Given the description of an element on the screen output the (x, y) to click on. 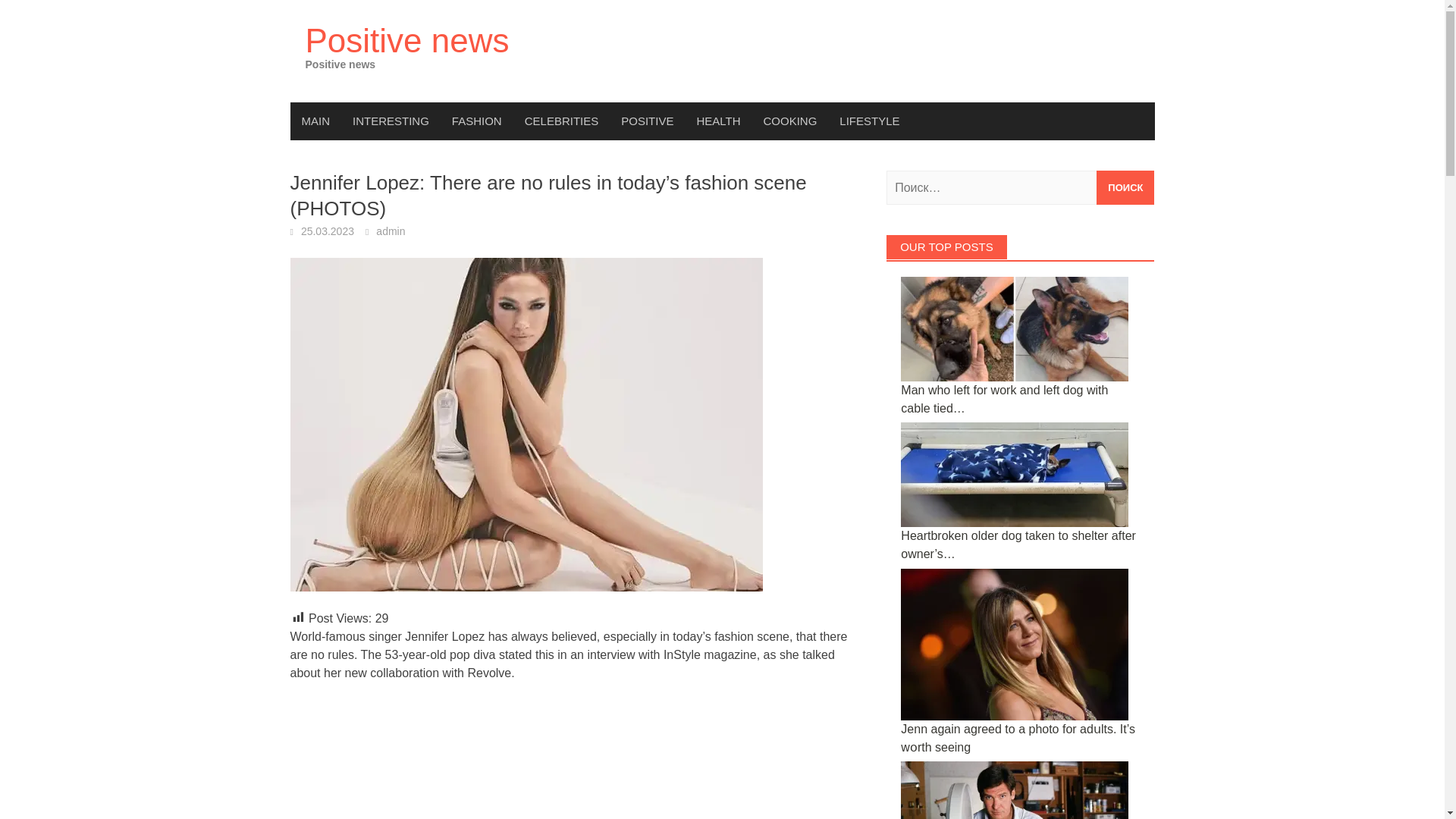
admin (389, 231)
HEALTH (717, 121)
Positive news (406, 40)
INTERESTING (390, 121)
CELEBRITIES (561, 121)
POSITIVE (647, 121)
FASHION (477, 121)
MAIN (314, 121)
COOKING (790, 121)
